Given the description of an element on the screen output the (x, y) to click on. 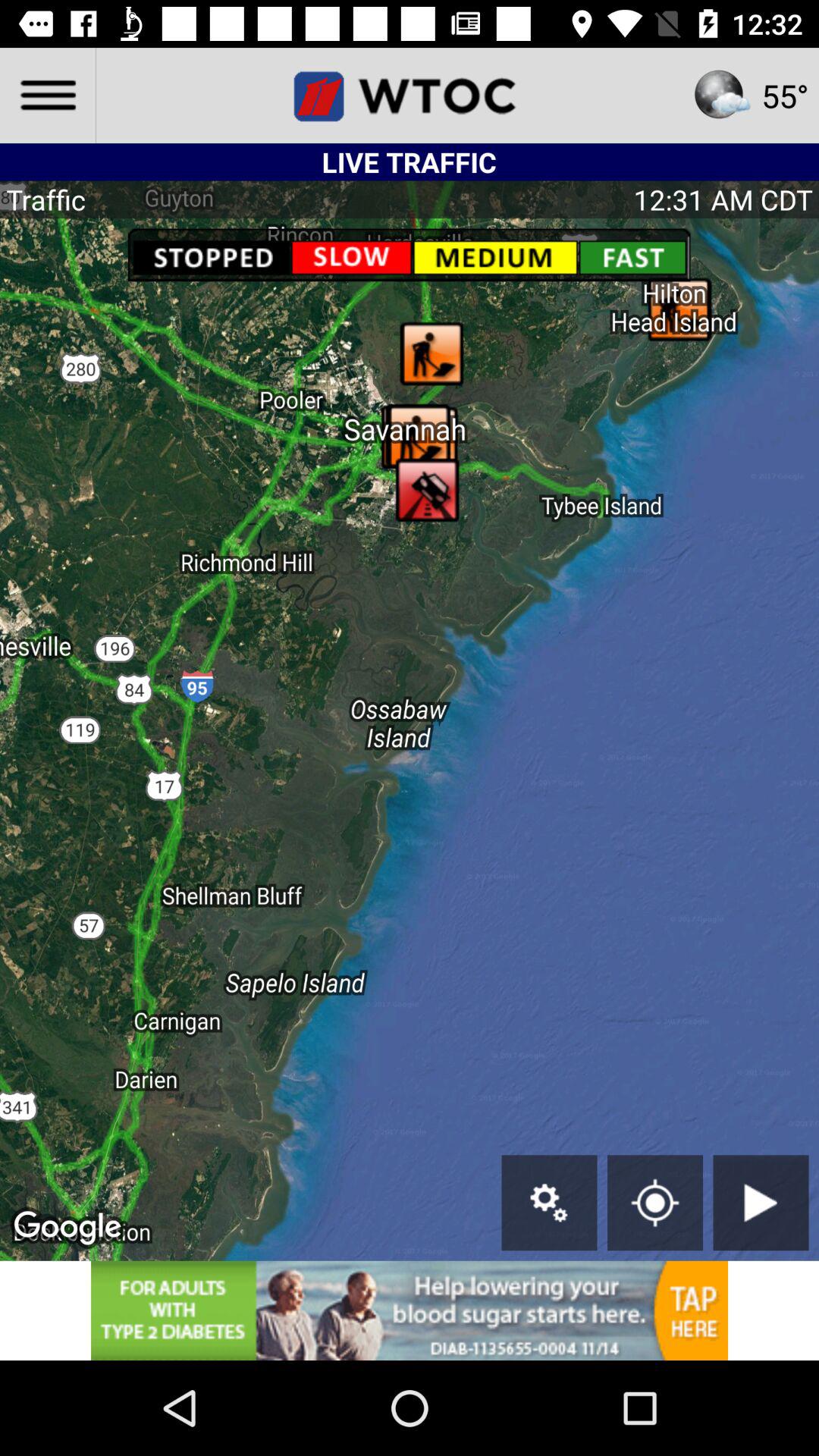
heading and logo of the page (409, 94)
click on weather icon (722, 95)
